Given the description of an element on the screen output the (x, y) to click on. 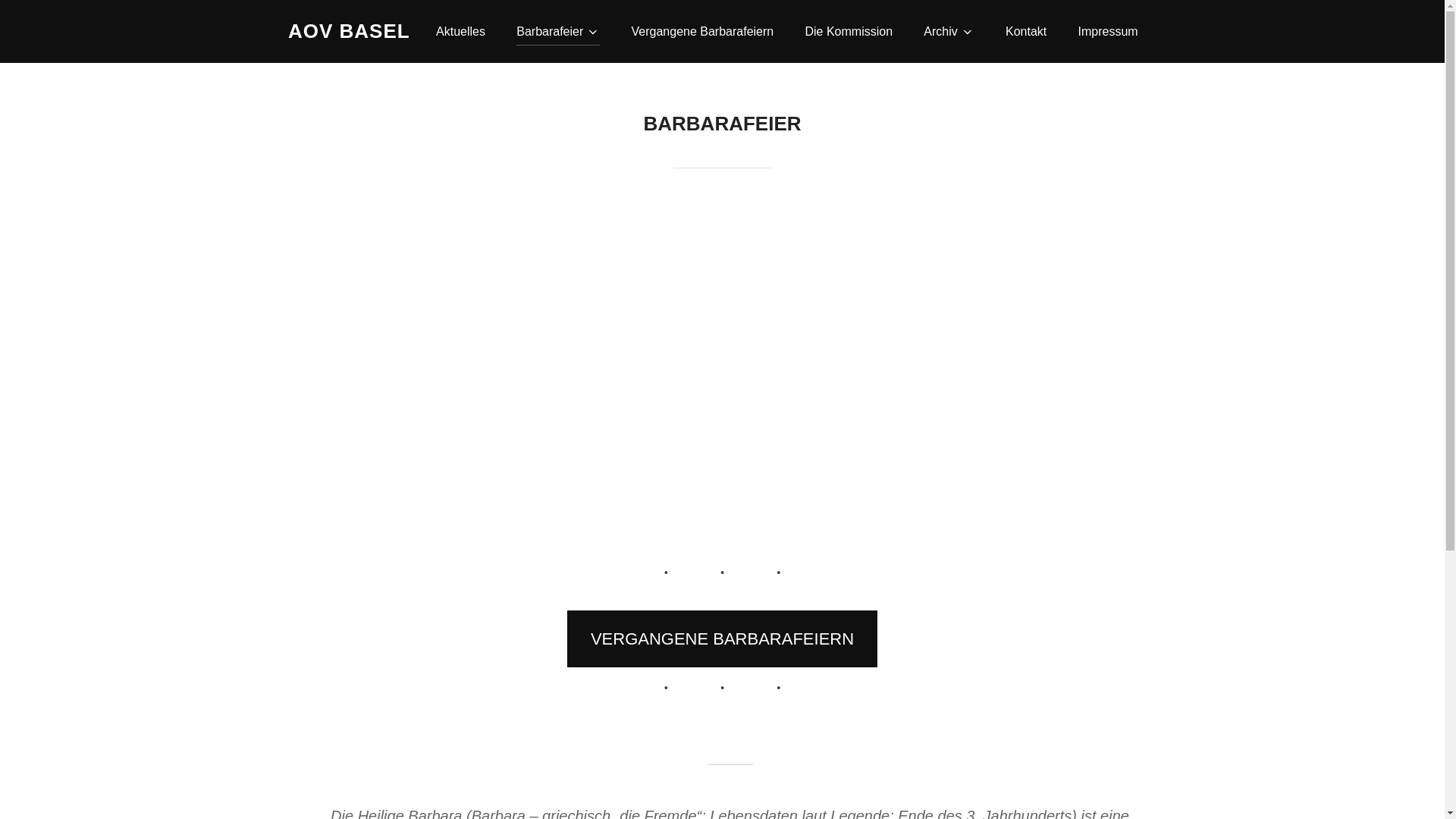
Barbarafeier Element type: text (557, 30)
Die Kommission Element type: text (848, 30)
Archiv Element type: text (948, 30)
VERGANGENE BARBARAFEIERN Element type: text (722, 638)
Vergangene Barbarafeiern Element type: text (702, 30)
Kontakt Element type: text (1025, 30)
Aktuelles Element type: text (460, 30)
AOV BASEL Element type: text (349, 31)
Impressum Element type: text (1108, 30)
